Given the description of an element on the screen output the (x, y) to click on. 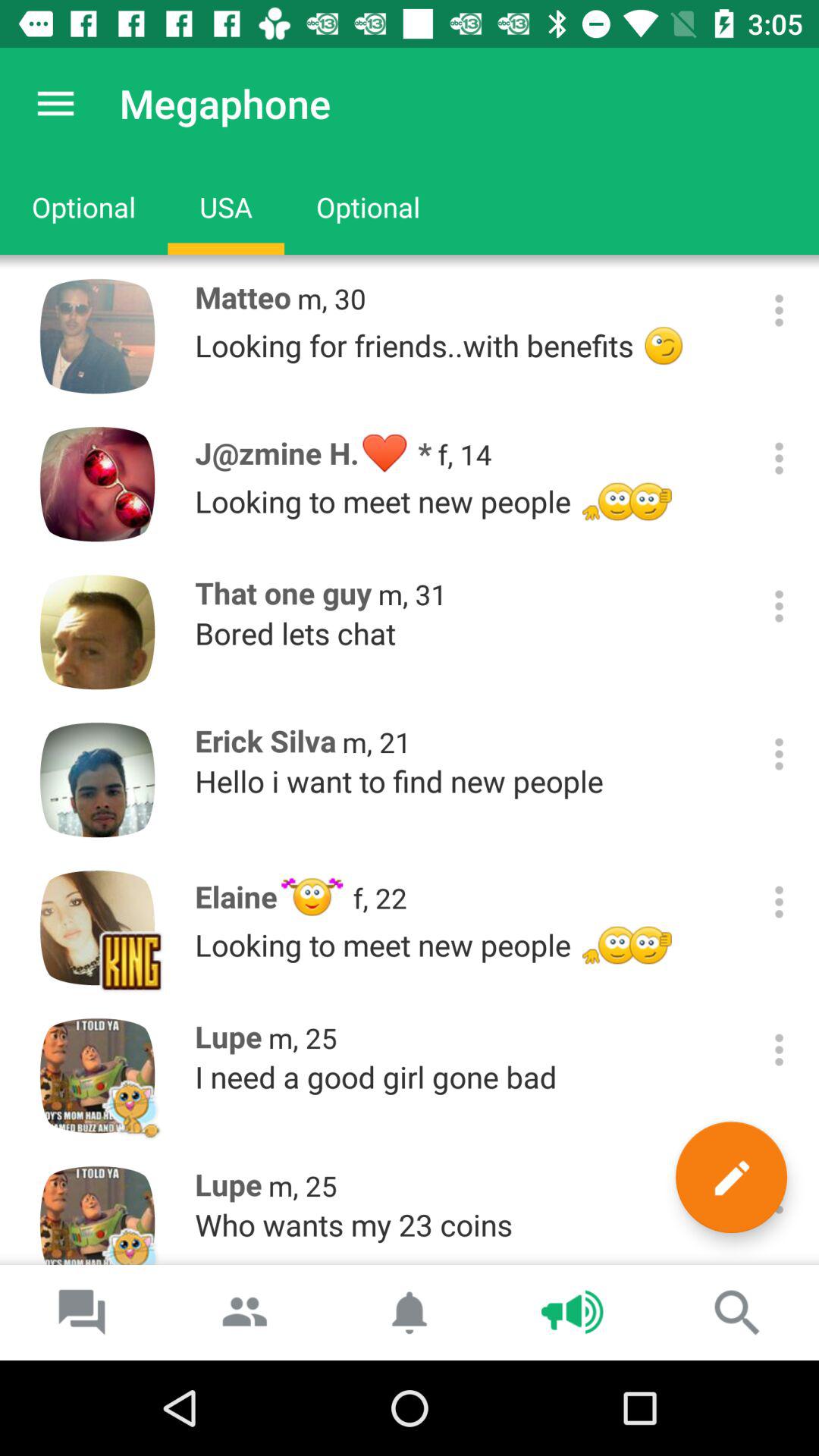
turn on icon below i need a (731, 1177)
